Given the description of an element on the screen output the (x, y) to click on. 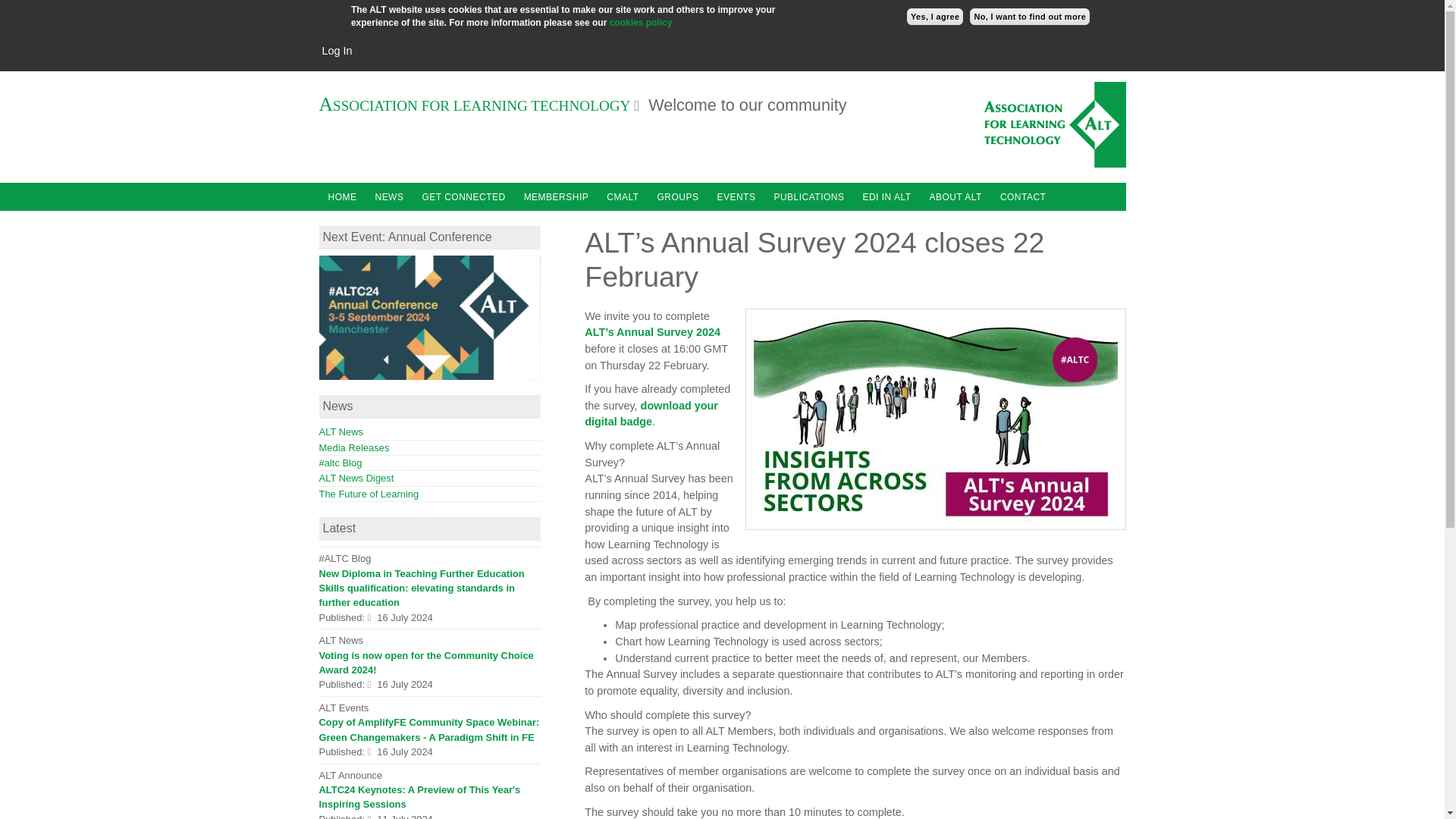
NEWS (388, 196)
CONTACT (1023, 196)
No, I want to find out more (1029, 16)
GET CONNECTED (462, 196)
GROUPS (677, 196)
cookies policy (641, 22)
ABOUT ALT (955, 196)
Yes, I agree (935, 16)
ASSOCIATION FOR LEARNING TECHNOLOGY (481, 105)
Ways to stay in touch and get connected with ALT Members (462, 196)
MEMBERSHIP (556, 196)
Insights from across the sector, ALT's Annual Survey 2024 (936, 418)
ALT News Digest (355, 478)
EDI IN ALT (886, 196)
ALT News (340, 431)
